Given the description of an element on the screen output the (x, y) to click on. 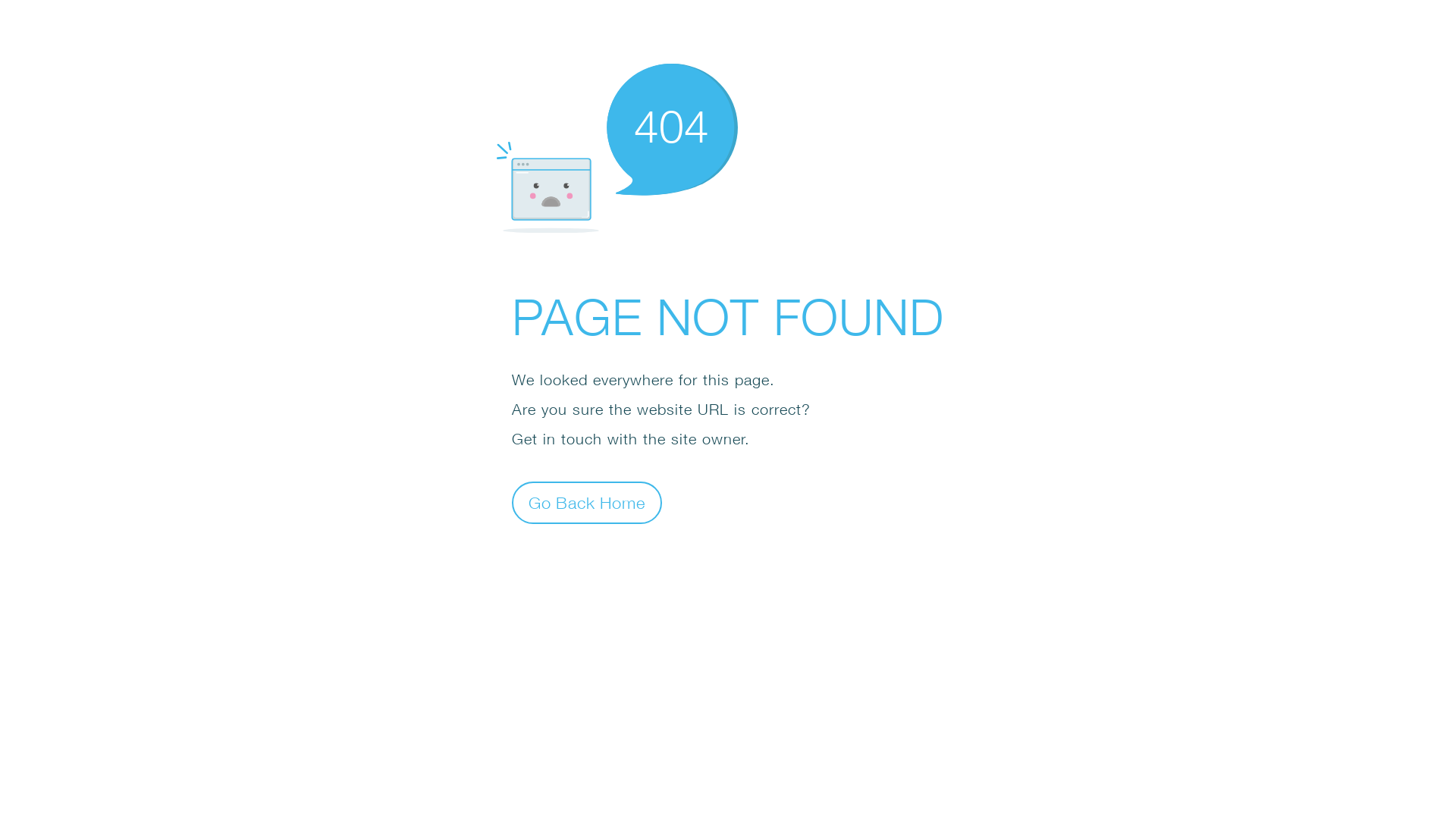
Go Back Home Element type: text (586, 502)
